Given the description of an element on the screen output the (x, y) to click on. 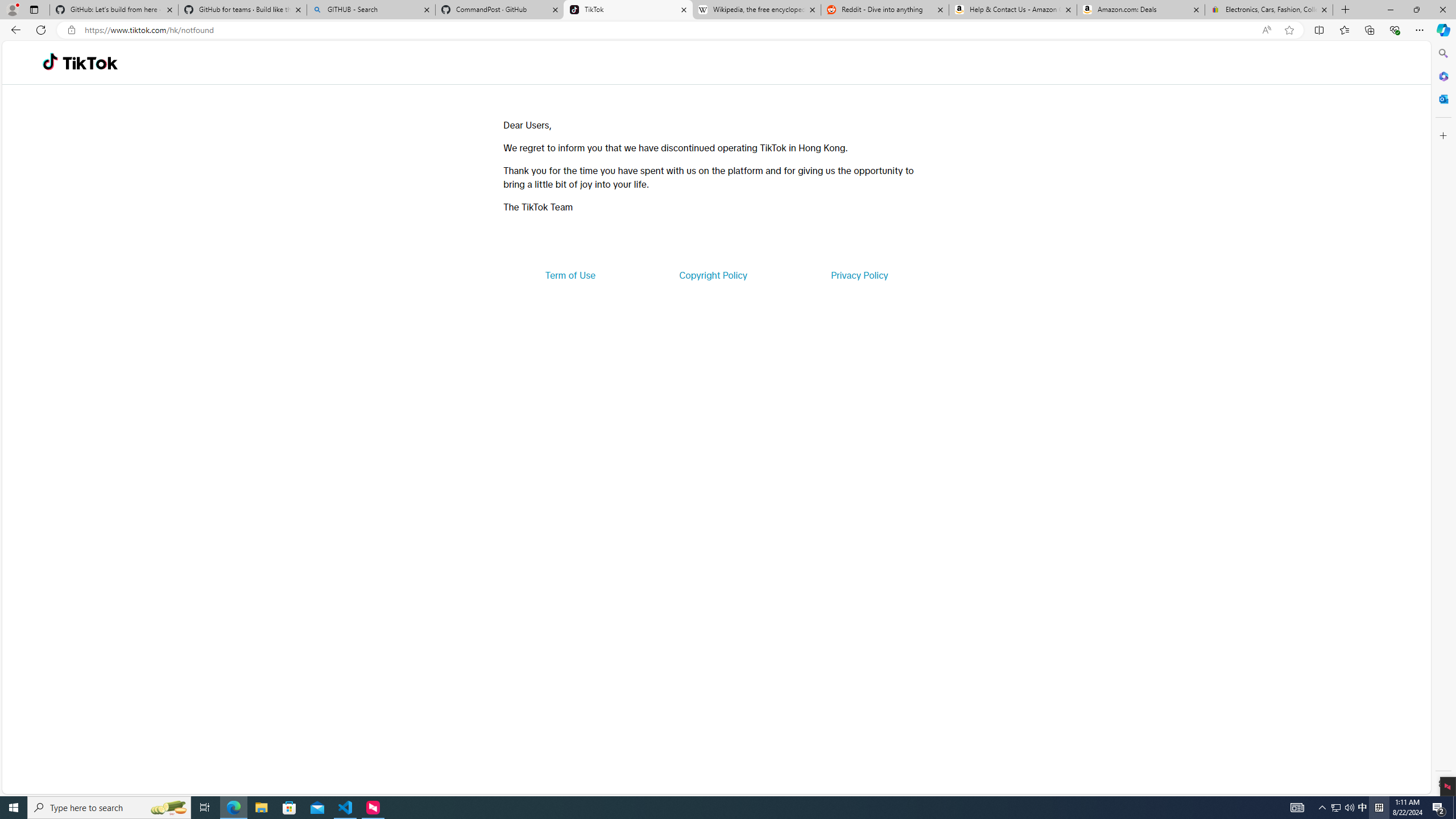
Wikipedia, the free encyclopedia (756, 9)
Term of Use (569, 274)
